Given the description of an element on the screen output the (x, y) to click on. 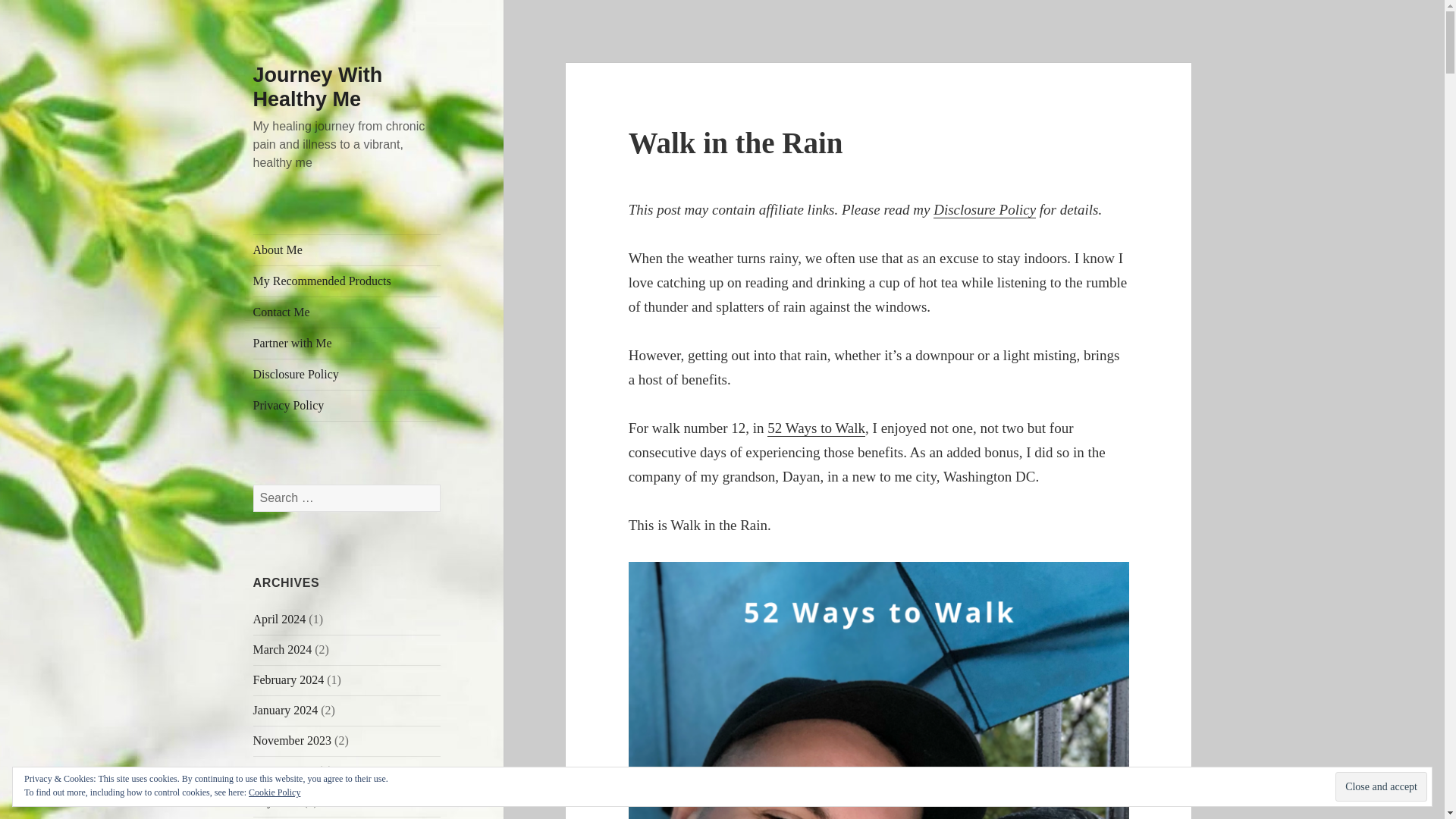
February 2024 (288, 679)
March 2024 (283, 649)
Contact Me (347, 312)
About Me (347, 250)
Privacy Policy (347, 405)
Journey With Healthy Me (317, 86)
November 2023 (292, 739)
Close and accept (1380, 786)
January 2024 (285, 709)
Partner with Me (347, 343)
August 2023 (284, 770)
July 2023 (277, 800)
My Recommended Products (347, 281)
